Given the description of an element on the screen output the (x, y) to click on. 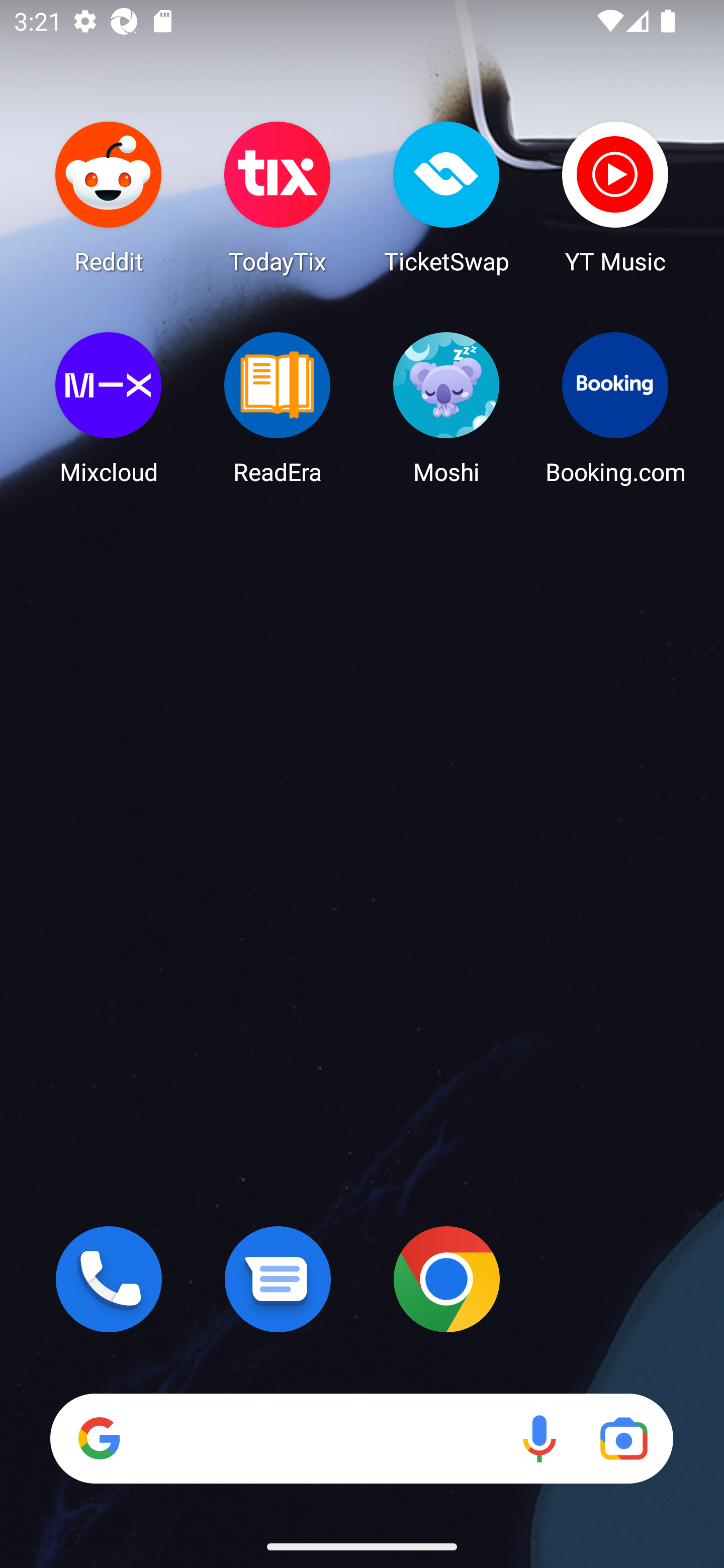
Reddit (108, 196)
TodayTix (277, 196)
TicketSwap (445, 196)
YT Music (615, 196)
Mixcloud (108, 407)
ReadEra (277, 407)
Moshi (445, 407)
Booking.com (615, 407)
Phone (108, 1279)
Messages (277, 1279)
Chrome (446, 1279)
Search Voice search Google Lens (361, 1438)
Voice search (539, 1438)
Google Lens (623, 1438)
